Given the description of an element on the screen output the (x, y) to click on. 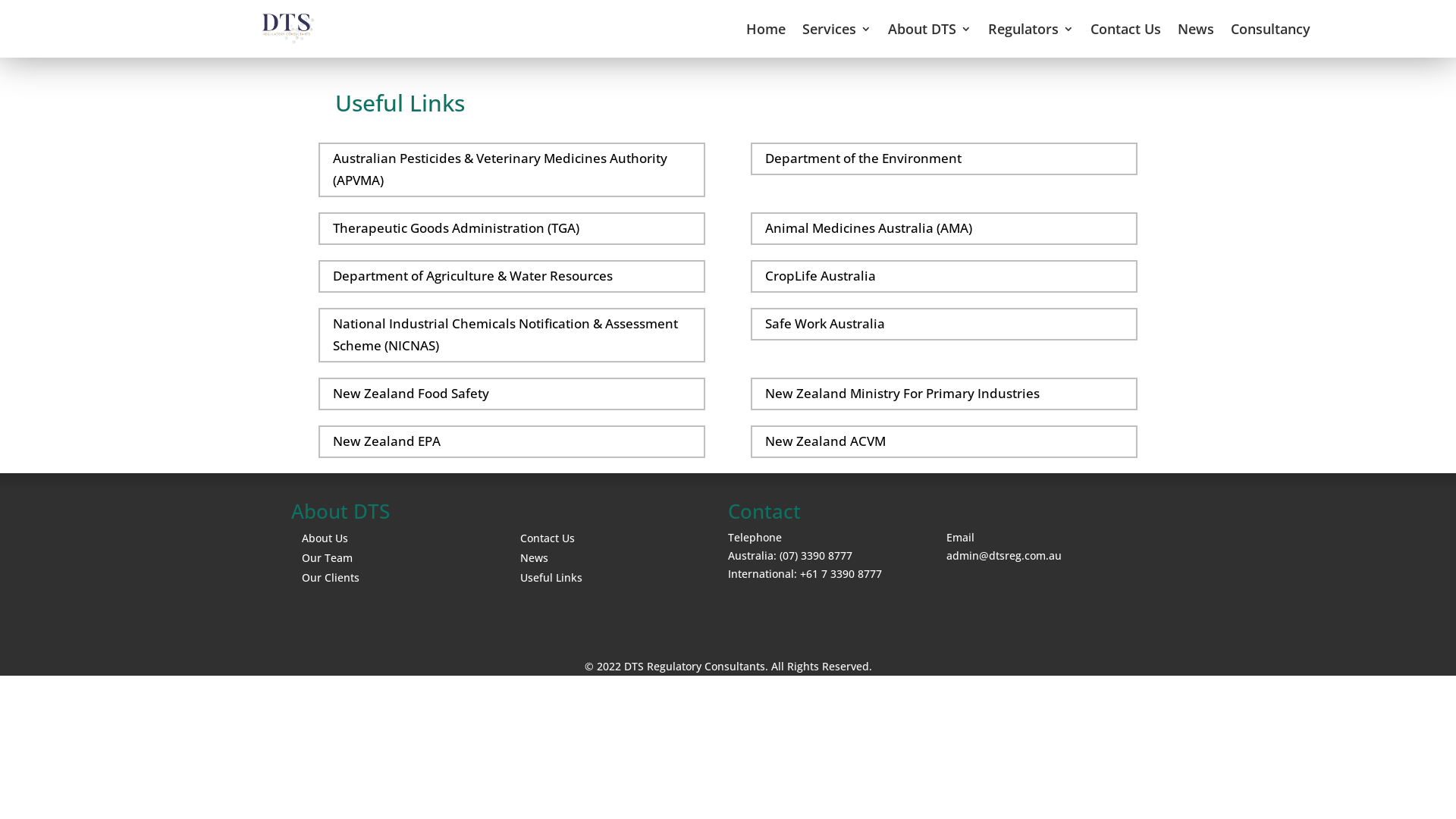
Our Clients Element type: text (330, 577)
Regulators Element type: text (1030, 28)
About Us Element type: text (324, 537)
New Zealand EPA Element type: text (511, 441)
Useful Links Element type: text (551, 577)
Therapeutic Goods Administration (TGA) Element type: text (511, 228)
Safe Work Australia Element type: text (943, 323)
News Element type: text (534, 557)
Department of Agriculture & Water Resources Element type: text (511, 276)
Contact Us Element type: text (547, 537)
News Element type: text (1195, 28)
New Zealand Food Safety Element type: text (511, 393)
New Zealand ACVM Element type: text (943, 441)
About DTS Element type: text (929, 28)
Our Team Element type: text (326, 557)
CropLife Australia Element type: text (943, 276)
Home Element type: text (765, 28)
Animal Medicines Australia (AMA) Element type: text (943, 228)
Department of the Environment Element type: text (943, 158)
Consultancy Element type: text (1270, 28)
New Zealand Ministry For Primary Industries Element type: text (943, 393)
Services Element type: text (836, 28)
Contact Us Element type: text (1125, 28)
